Given the description of an element on the screen output the (x, y) to click on. 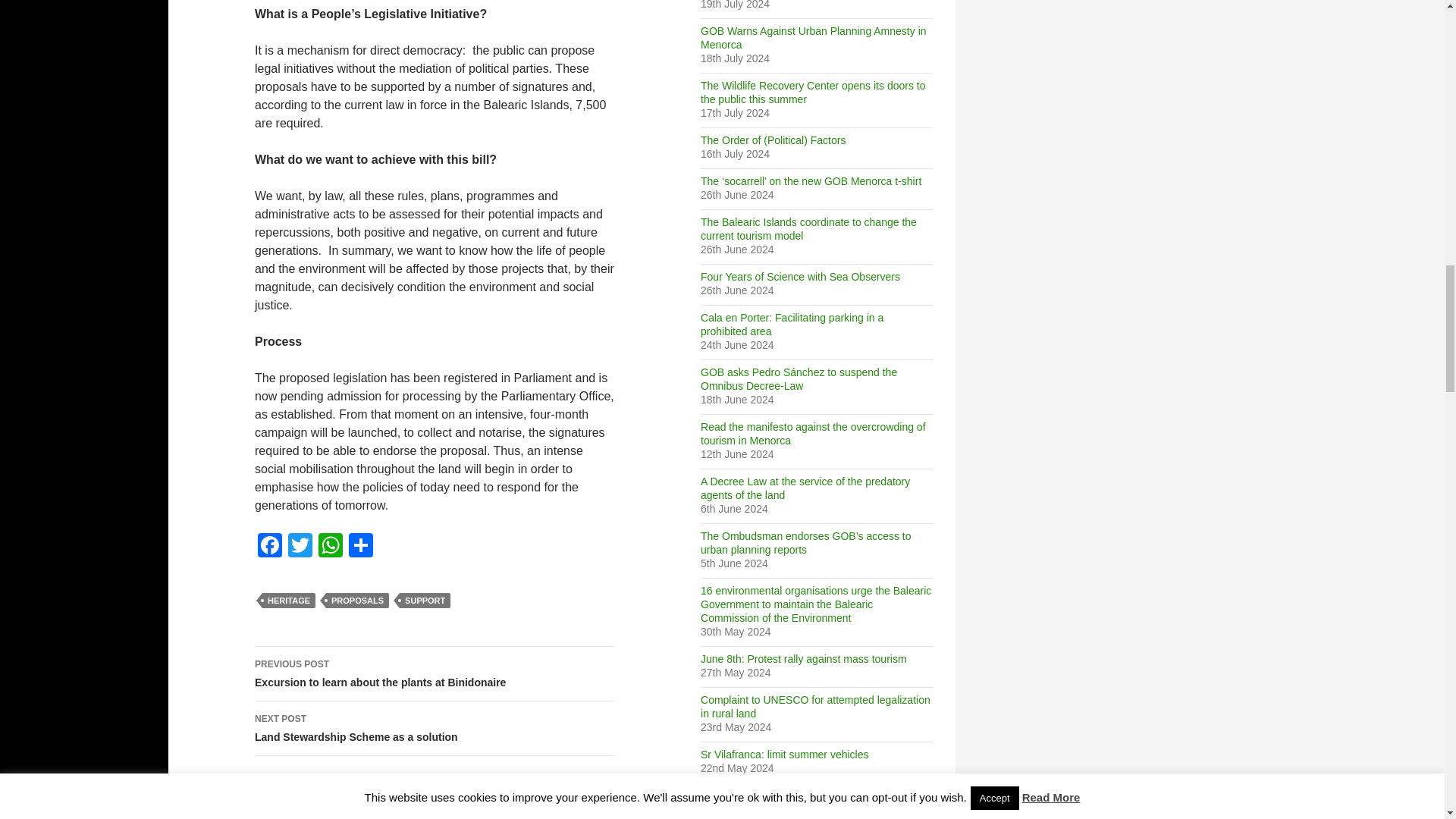
WhatsApp (330, 547)
Facebook (269, 547)
WhatsApp (330, 547)
Facebook (269, 547)
Twitter (300, 547)
Twitter (300, 547)
